Given the description of an element on the screen output the (x, y) to click on. 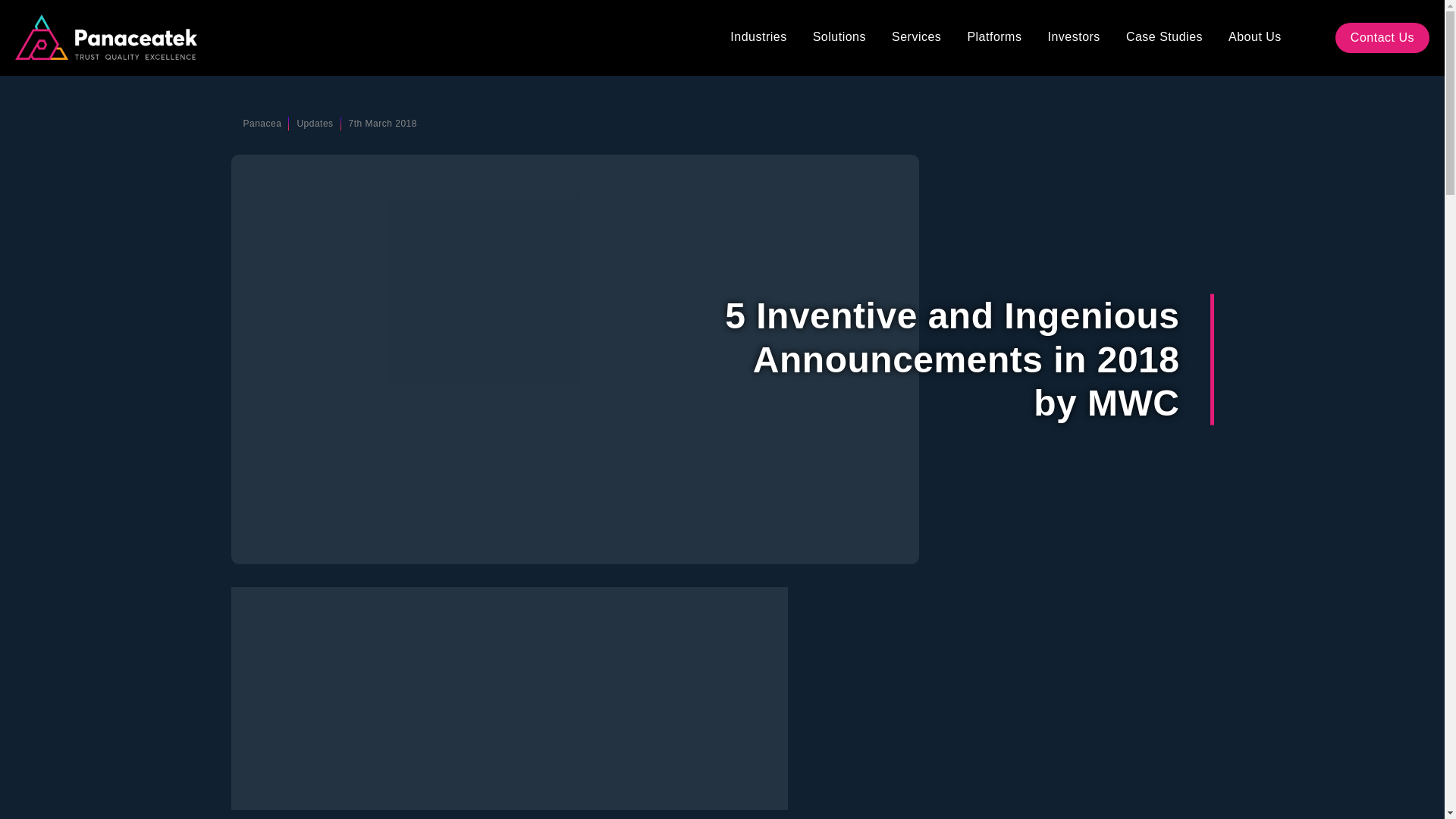
Industries (758, 38)
Panaceatek (105, 36)
Platforms (993, 38)
Solutions (839, 38)
Services (916, 38)
Panaceatek (105, 37)
